Given the description of an element on the screen output the (x, y) to click on. 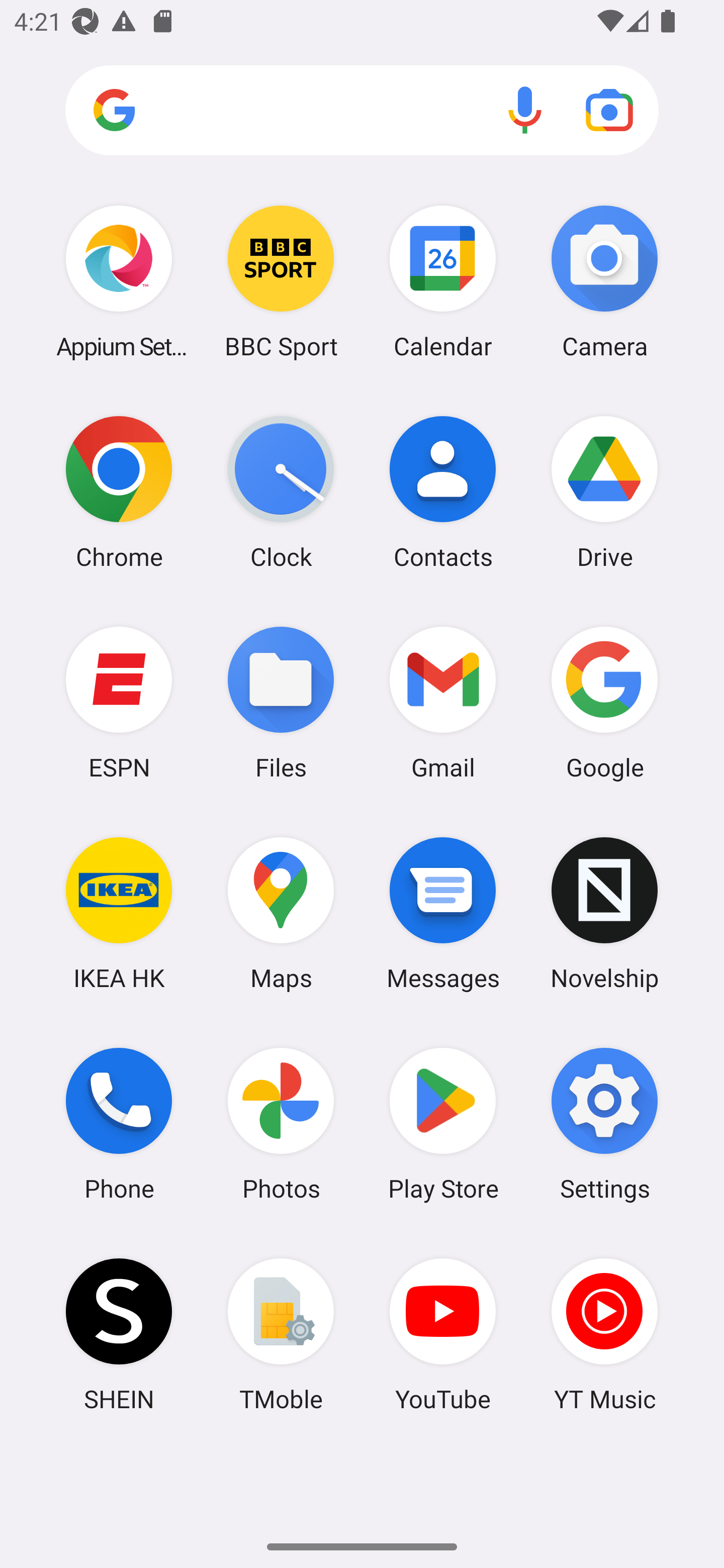
Search apps, web and more (361, 110)
Voice search (524, 109)
Google Lens (608, 109)
Appium Settings (118, 281)
BBC Sport (280, 281)
Calendar (443, 281)
Camera (604, 281)
Chrome (118, 492)
Clock (280, 492)
Contacts (443, 492)
Drive (604, 492)
ESPN (118, 702)
Files (280, 702)
Gmail (443, 702)
Google (604, 702)
IKEA HK (118, 913)
Maps (280, 913)
Messages (443, 913)
Novelship (604, 913)
Phone (118, 1124)
Photos (280, 1124)
Play Store (443, 1124)
Settings (604, 1124)
SHEIN (118, 1334)
TMoble (280, 1334)
YouTube (443, 1334)
YT Music (604, 1334)
